Given the description of an element on the screen output the (x, y) to click on. 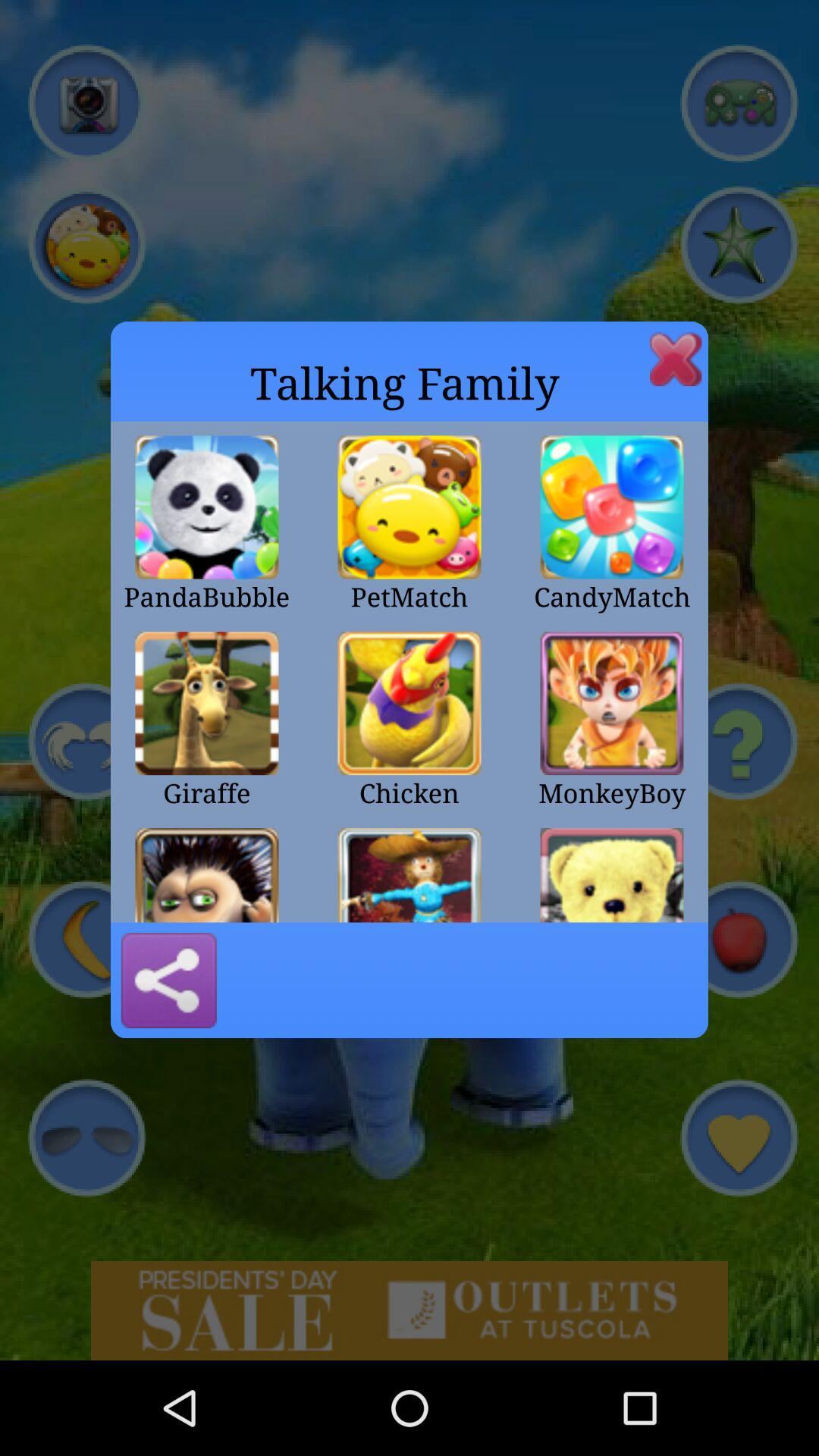
tap item at the bottom left corner (168, 980)
